Given the description of an element on the screen output the (x, y) to click on. 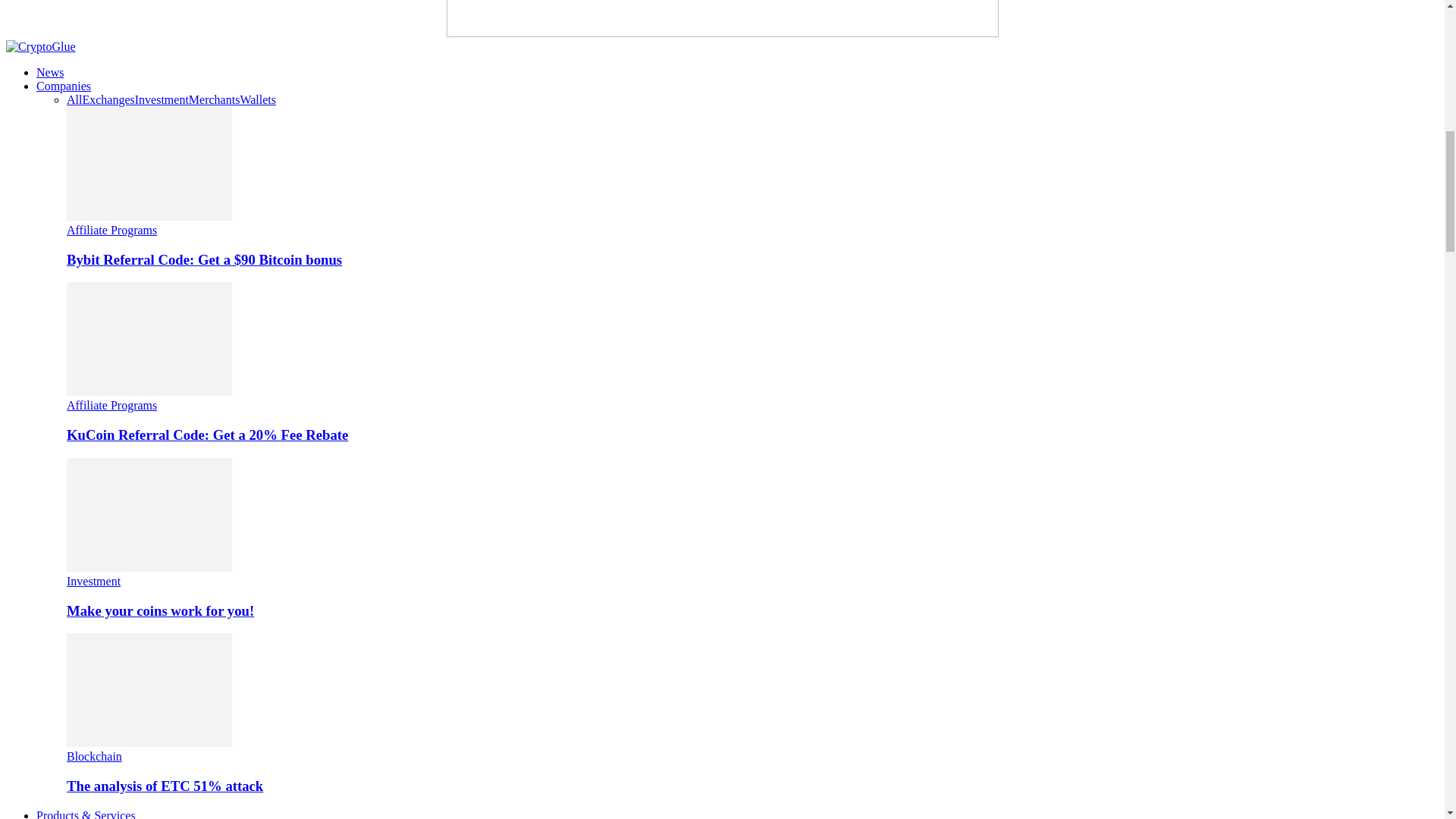
Make your coins work for you! (148, 567)
CryptoGlue (40, 47)
